Given the description of an element on the screen output the (x, y) to click on. 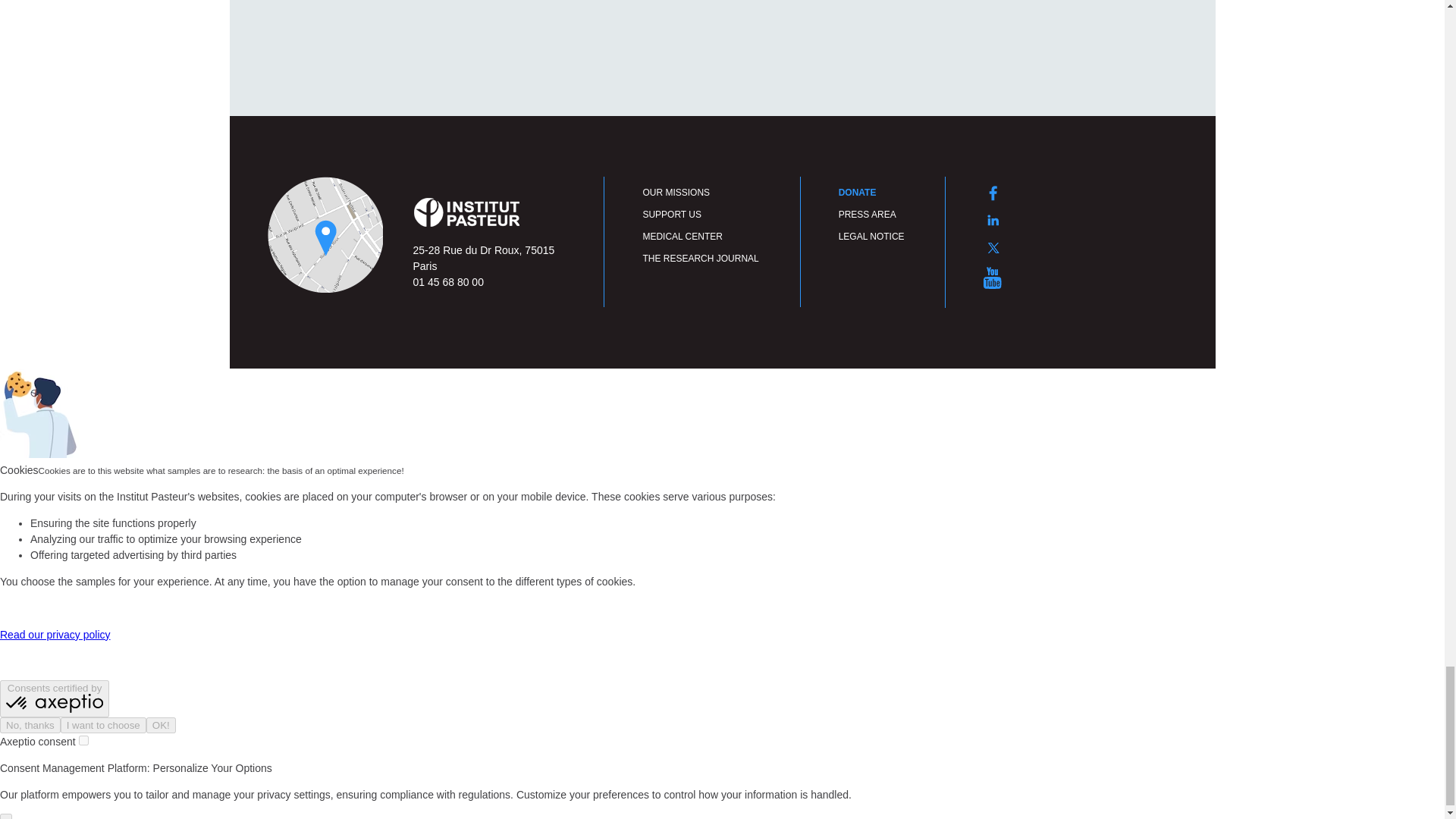
Institut Pasteur (465, 212)
